Given the description of an element on the screen output the (x, y) to click on. 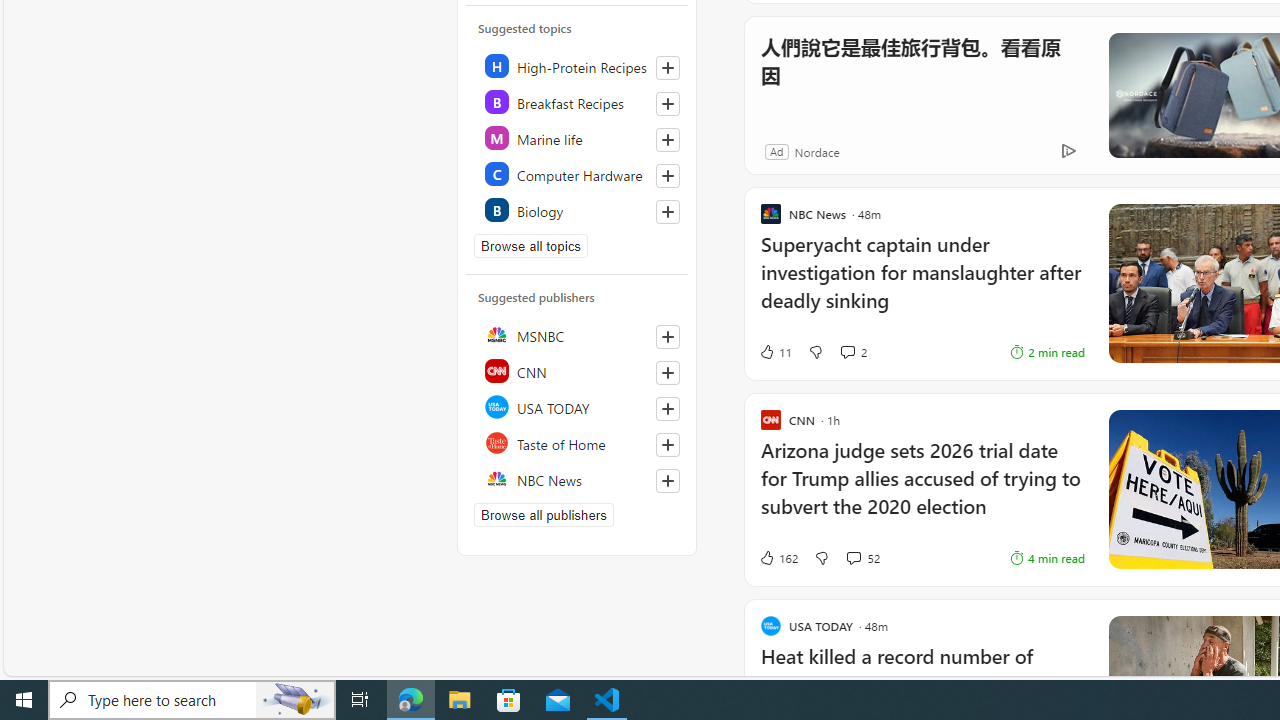
Dislike (821, 557)
Follow this source (667, 480)
Browse all publishers (543, 515)
View comments 2 Comment (847, 352)
USA TODAY (578, 406)
162 Like (778, 557)
11 Like (775, 351)
MSNBC (578, 334)
Follow this topic (667, 211)
